Given the description of an element on the screen output the (x, y) to click on. 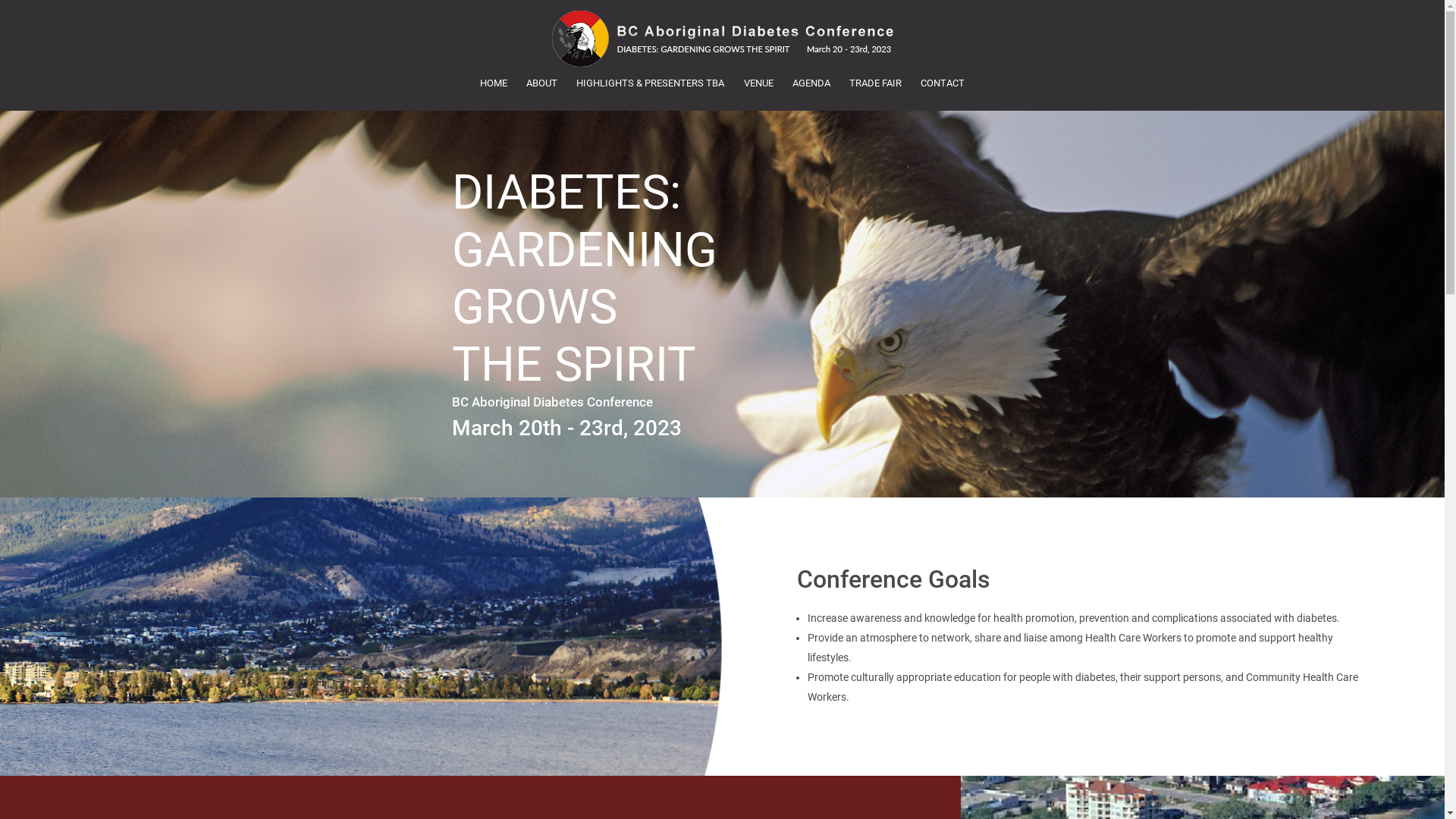
ABOUT Element type: text (542, 83)
VENUE Element type: text (758, 83)
HOME Element type: text (493, 83)
TRADE FAIR Element type: text (874, 83)
HIGHLIGHTS & PRESENTERS TBA Element type: text (650, 83)
CONTACT Element type: text (941, 83)
AGENDA Element type: text (810, 83)
